Given the description of an element on the screen output the (x, y) to click on. 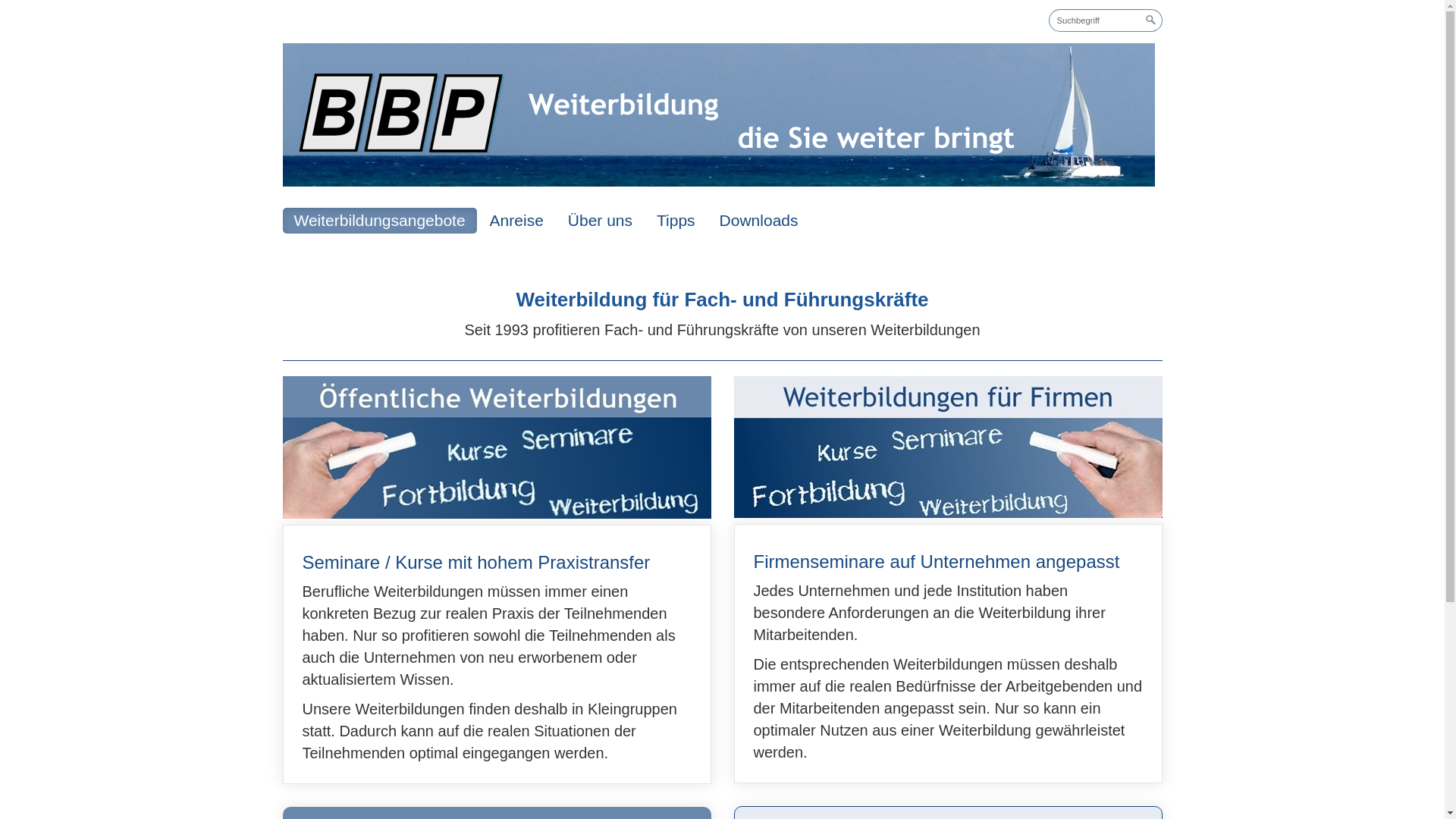
Tipps Element type: text (675, 220)
Weiterbildungsangebote Element type: text (379, 220)
Anreise Element type: text (516, 220)
Seminare / Kurse mit hohem Praxistransfer Element type: text (496, 654)
Downloads Element type: text (758, 220)
Firmenseminare auf Unternehmen angepasst Element type: text (947, 653)
